Given the description of an element on the screen output the (x, y) to click on. 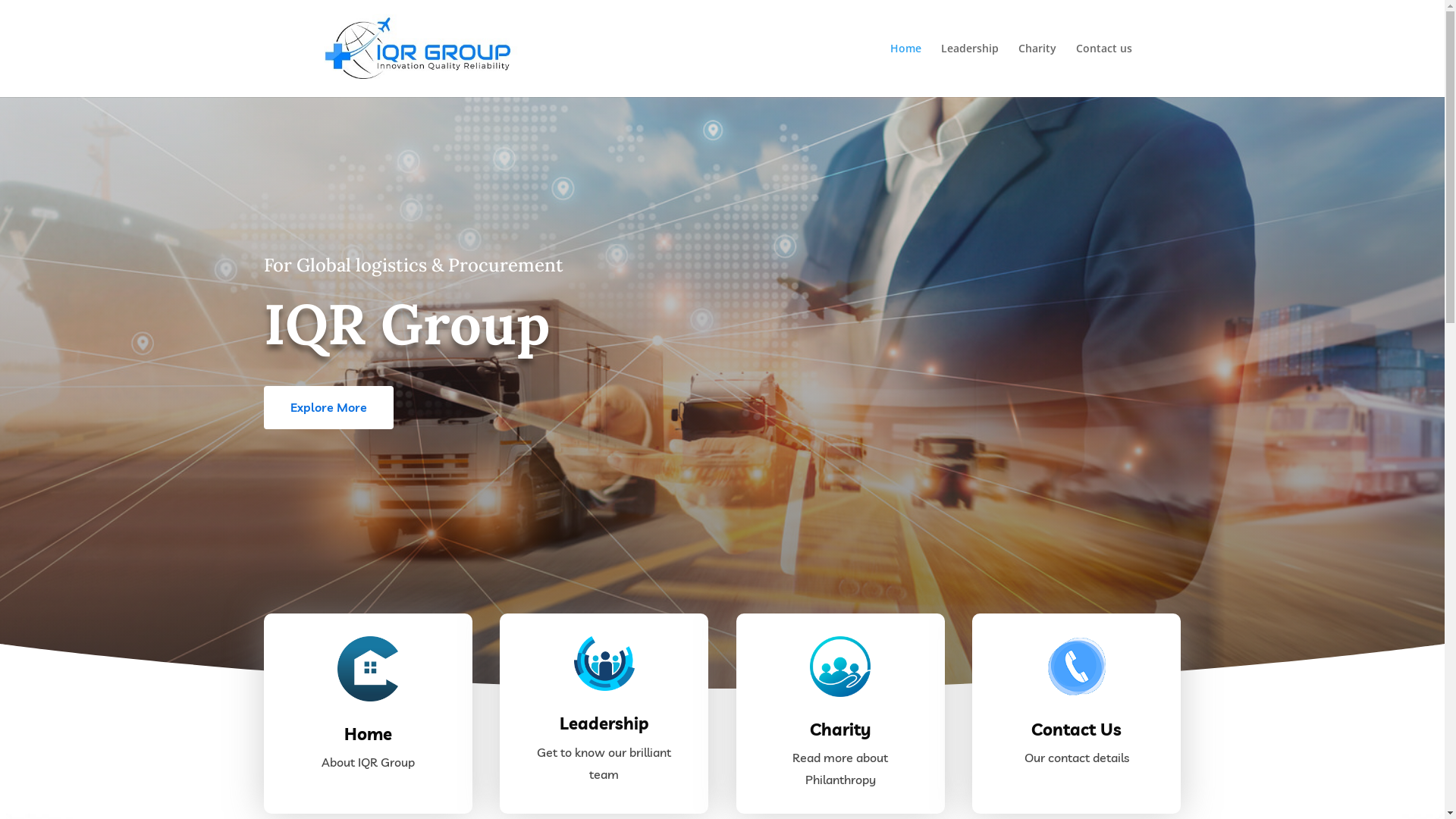
Contact Us Element type: text (1076, 729)
Home Element type: text (905, 70)
Leadership Element type: text (604, 723)
Home Element type: text (368, 733)
Explore More Element type: text (328, 407)
Contact us Element type: text (1103, 70)
Leadership Element type: text (968, 70)
Charity Element type: text (840, 729)
Charity Element type: text (1036, 70)
